Given the description of an element on the screen output the (x, y) to click on. 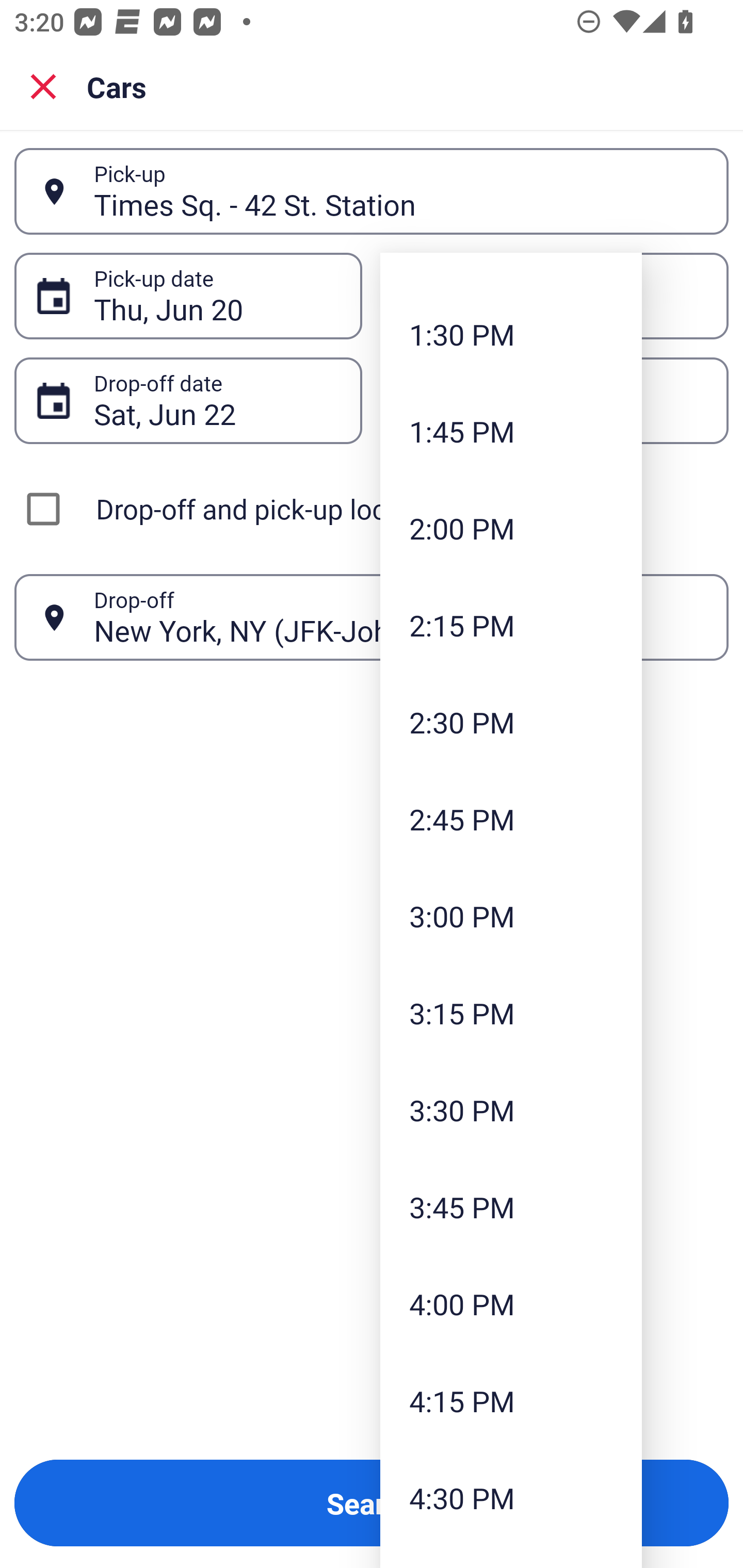
1:30 PM (510, 333)
1:45 PM (510, 430)
2:00 PM (510, 528)
2:15 PM (510, 625)
2:30 PM (510, 721)
2:45 PM (510, 818)
3:00 PM (510, 915)
3:15 PM (510, 1012)
3:30 PM (510, 1109)
3:45 PM (510, 1206)
4:00 PM (510, 1303)
4:15 PM (510, 1399)
4:30 PM (510, 1497)
